Given the description of an element on the screen output the (x, y) to click on. 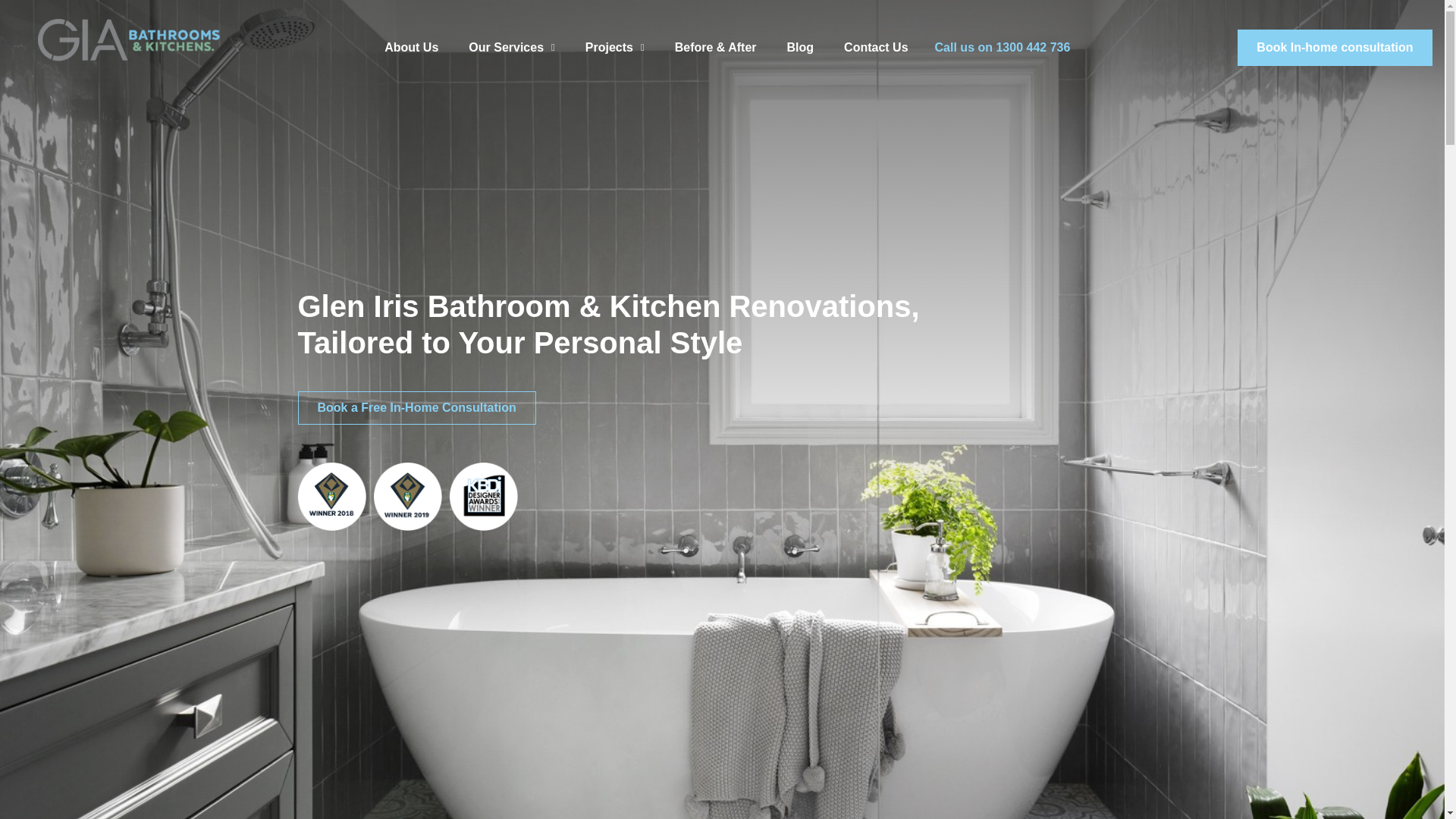
Our Services (510, 46)
Book a Free In-Home Consultation (416, 408)
Call us on 1300 442 736 (996, 47)
About Us (410, 46)
Projects (614, 46)
Book In-home consultation (1334, 47)
Contact Us (875, 46)
Blog (800, 46)
